Given the description of an element on the screen output the (x, y) to click on. 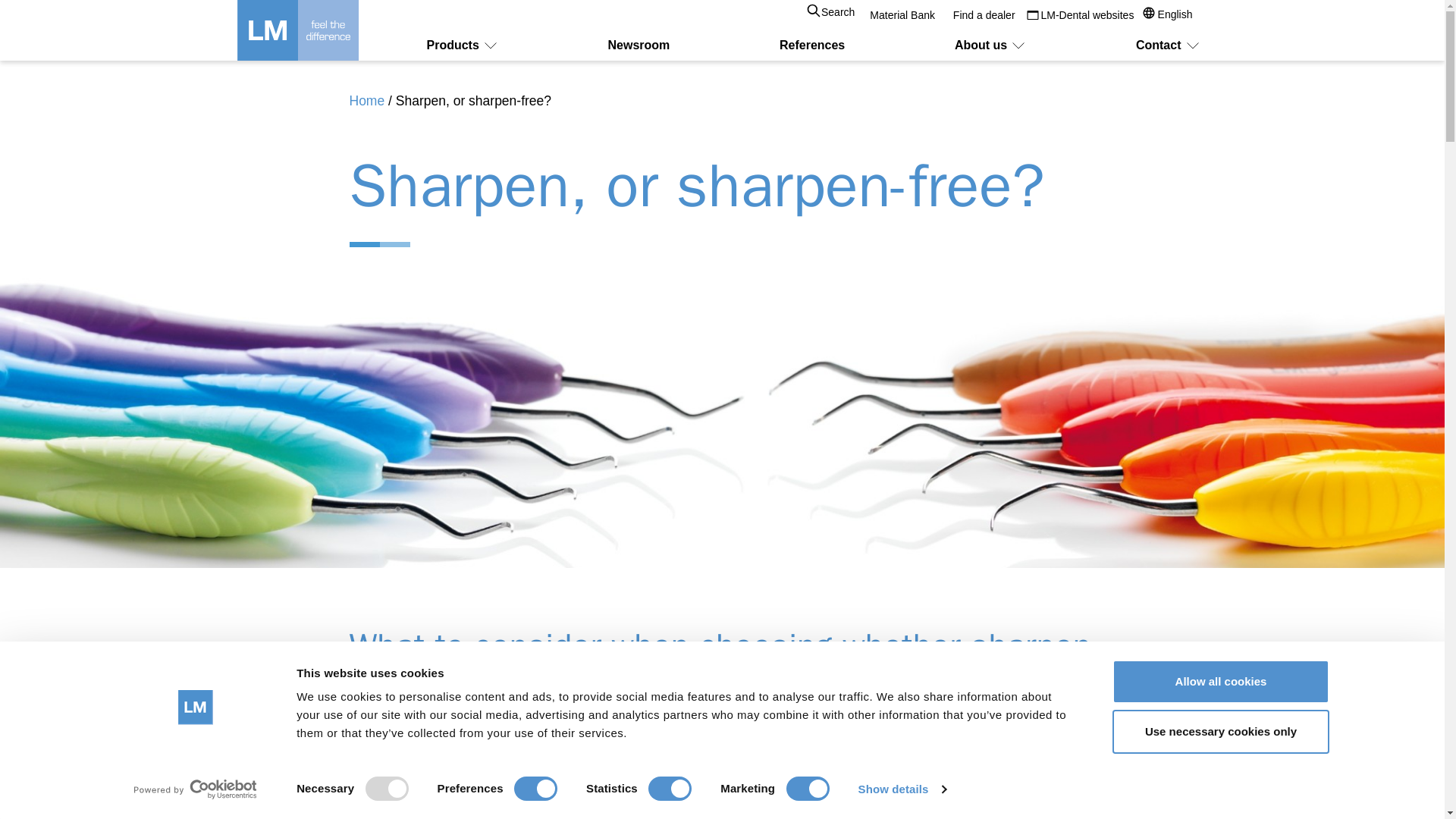
Show details (900, 789)
Use necessary cookies only (1219, 731)
English (1173, 13)
